Given the description of an element on the screen output the (x, y) to click on. 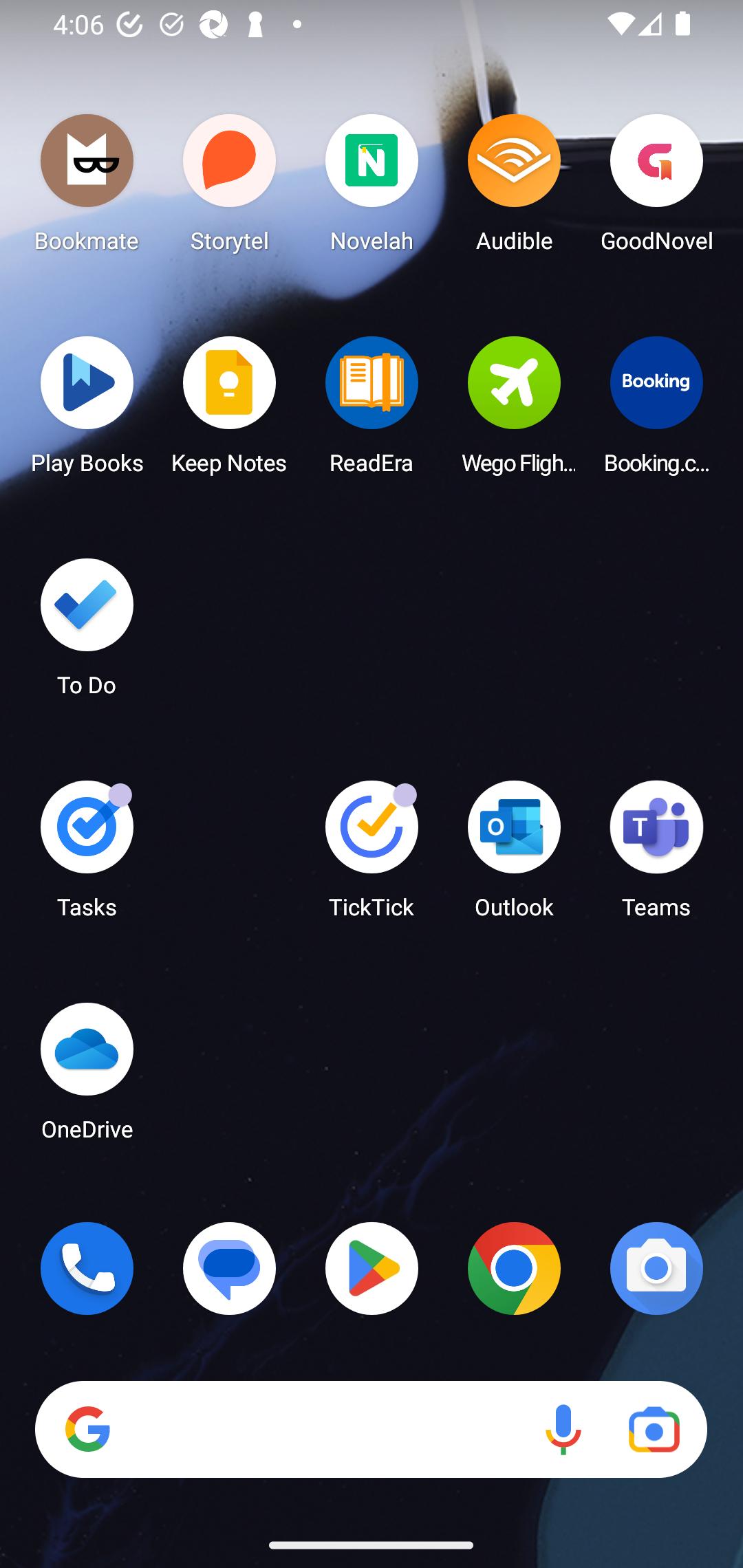
Bookmate (86, 188)
Storytel (229, 188)
Novelah (371, 188)
Audible (513, 188)
GoodNovel (656, 188)
Play Books (86, 410)
Keep Notes (229, 410)
ReadEra (371, 410)
Wego Flights & Hotels (513, 410)
Booking.com (656, 410)
To Do (86, 633)
Tasks Tasks has 1 notification (86, 854)
TickTick TickTick has 3 notifications (371, 854)
Outlook (513, 854)
Teams (656, 854)
OneDrive (86, 1076)
Phone (86, 1268)
Messages (229, 1268)
Play Store (371, 1268)
Chrome (513, 1268)
Camera (656, 1268)
Voice search (562, 1429)
Google Lens (653, 1429)
